Given the description of an element on the screen output the (x, y) to click on. 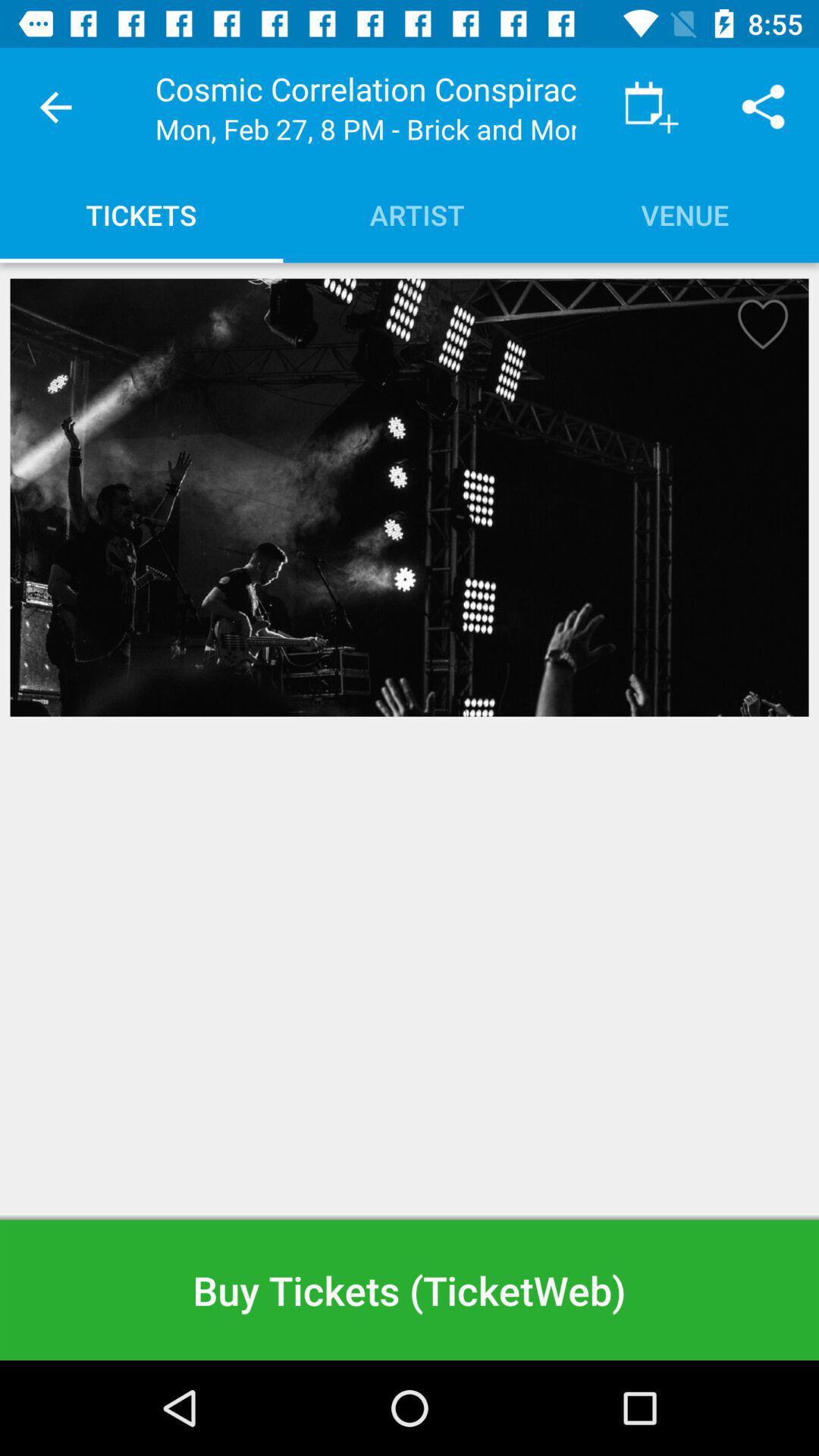
open the item below venue item (757, 329)
